Given the description of an element on the screen output the (x, y) to click on. 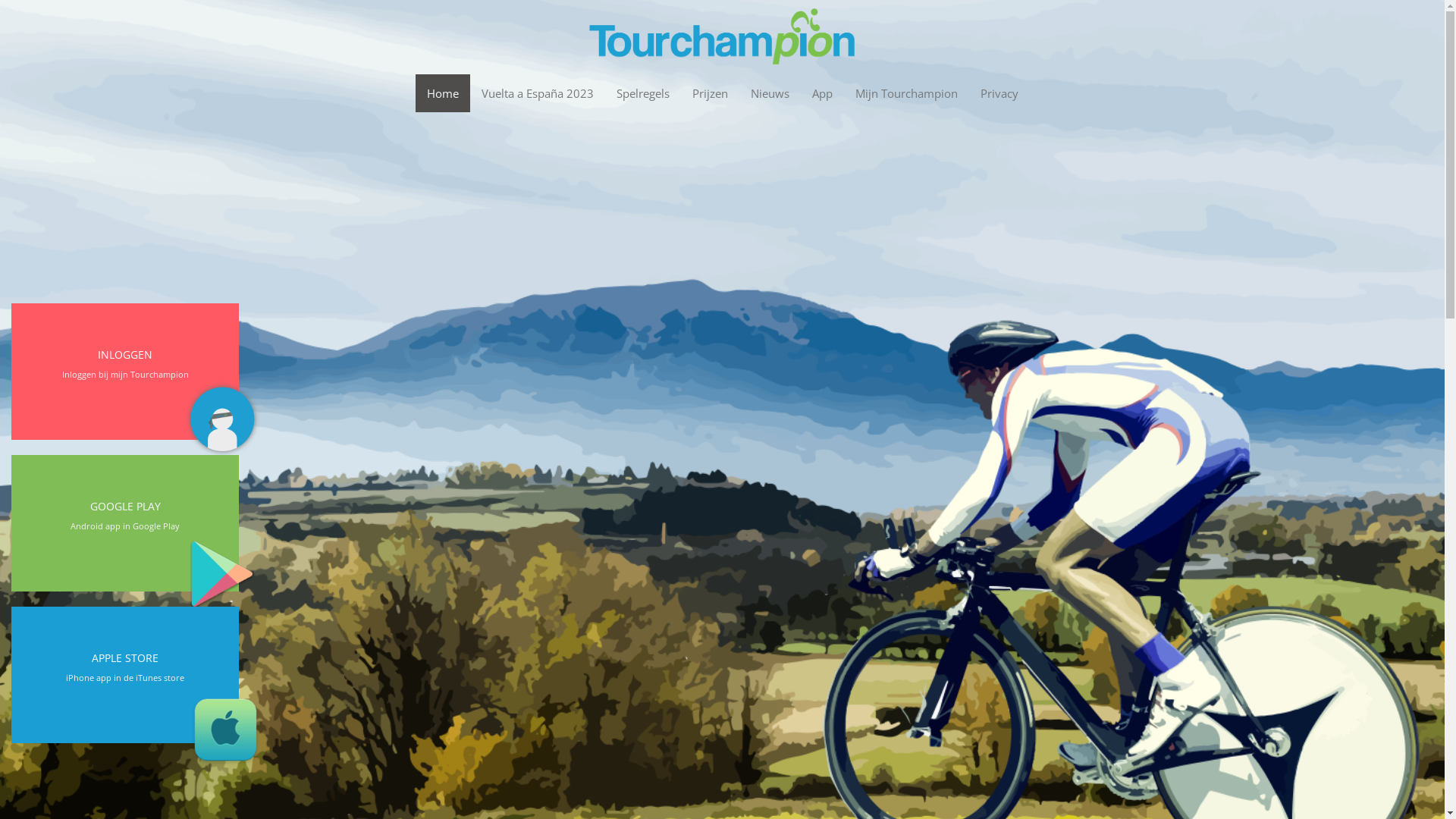
INLOGGEN
Inloggen bij mijn Tourchampion Element type: text (124, 364)
APPLE STORE
iPhone app in de iTunes store Element type: text (124, 668)
Mijn Tourchampion Element type: text (905, 93)
App Element type: text (822, 93)
Privacy Element type: text (999, 93)
Prijzen Element type: text (709, 93)
Home Element type: text (442, 93)
GOOGLE PLAY
Android app in Google Play Element type: text (124, 516)
Spelregels Element type: text (642, 93)
Nieuws Element type: text (769, 93)
